Given the description of an element on the screen output the (x, y) to click on. 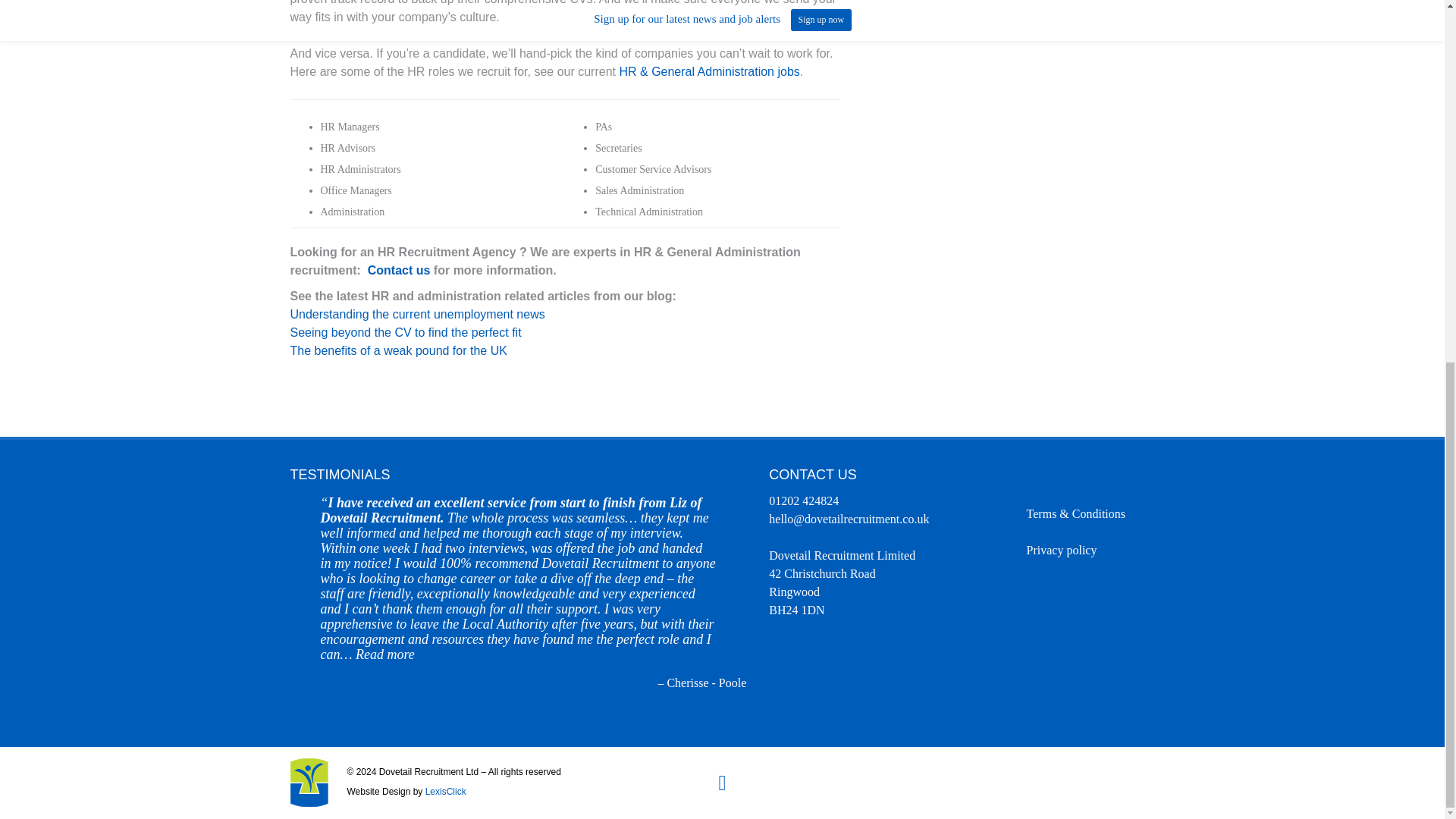
The benefits of a weak pound for the UK (397, 350)
01202 424824 (803, 500)
Seeing beyond the CV to find the perfect fit (405, 332)
Read more (384, 654)
Contact us (399, 269)
TESTIMONIALS (339, 474)
Privacy policy (1061, 549)
Complete testimonial by Cherisse - Poole (384, 654)
Understanding the current unemployment news (416, 314)
